Given the description of an element on the screen output the (x, y) to click on. 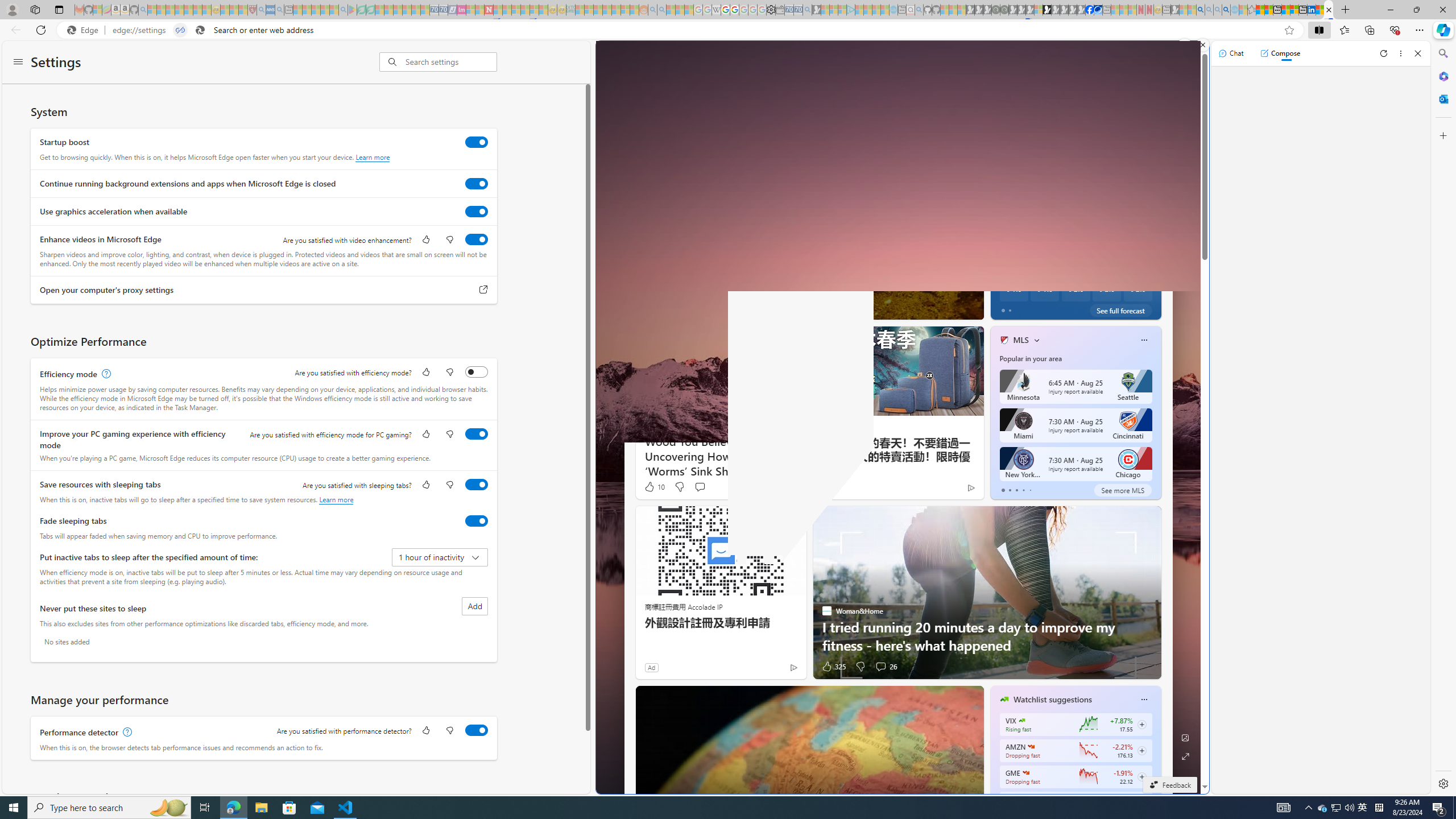
Efficiency mode (476, 371)
You're following The Weather Channel (777, 486)
tab-3 (1022, 489)
Watchlist suggestions (1052, 699)
TechRadar (999, 250)
Target page - Wikipedia - Sleeping (716, 9)
